Given the description of an element on the screen output the (x, y) to click on. 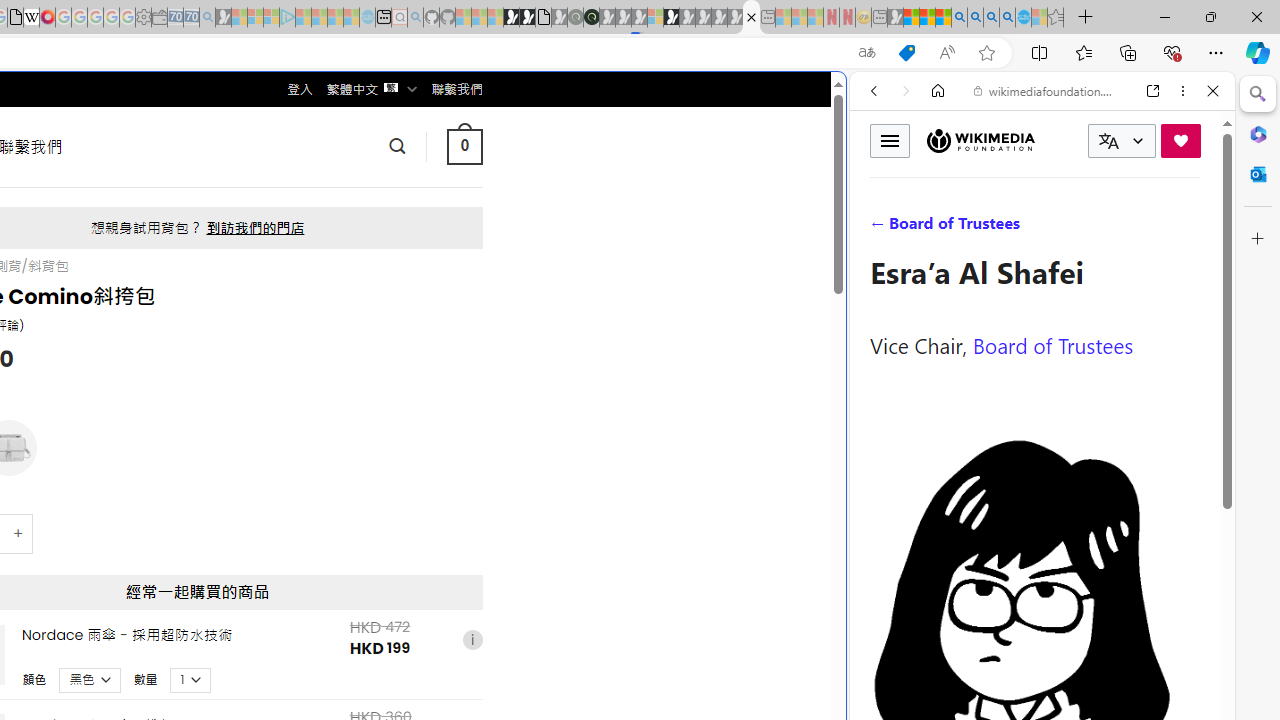
MediaWiki (47, 17)
Home | Sky Blue Bikes - Sky Blue Bikes - Sleeping (367, 17)
Play Zoo Boom in your browser | Games from Microsoft Start (527, 17)
Bing Real Estate - Home sales and rental listings - Sleeping (207, 17)
 0  (464, 146)
Favorites - Sleeping (1055, 17)
Search or enter web address (343, 191)
Preferences (1189, 228)
  0   (464, 146)
Board of Trustees (1053, 344)
IMAGES (939, 228)
